Given the description of an element on the screen output the (x, y) to click on. 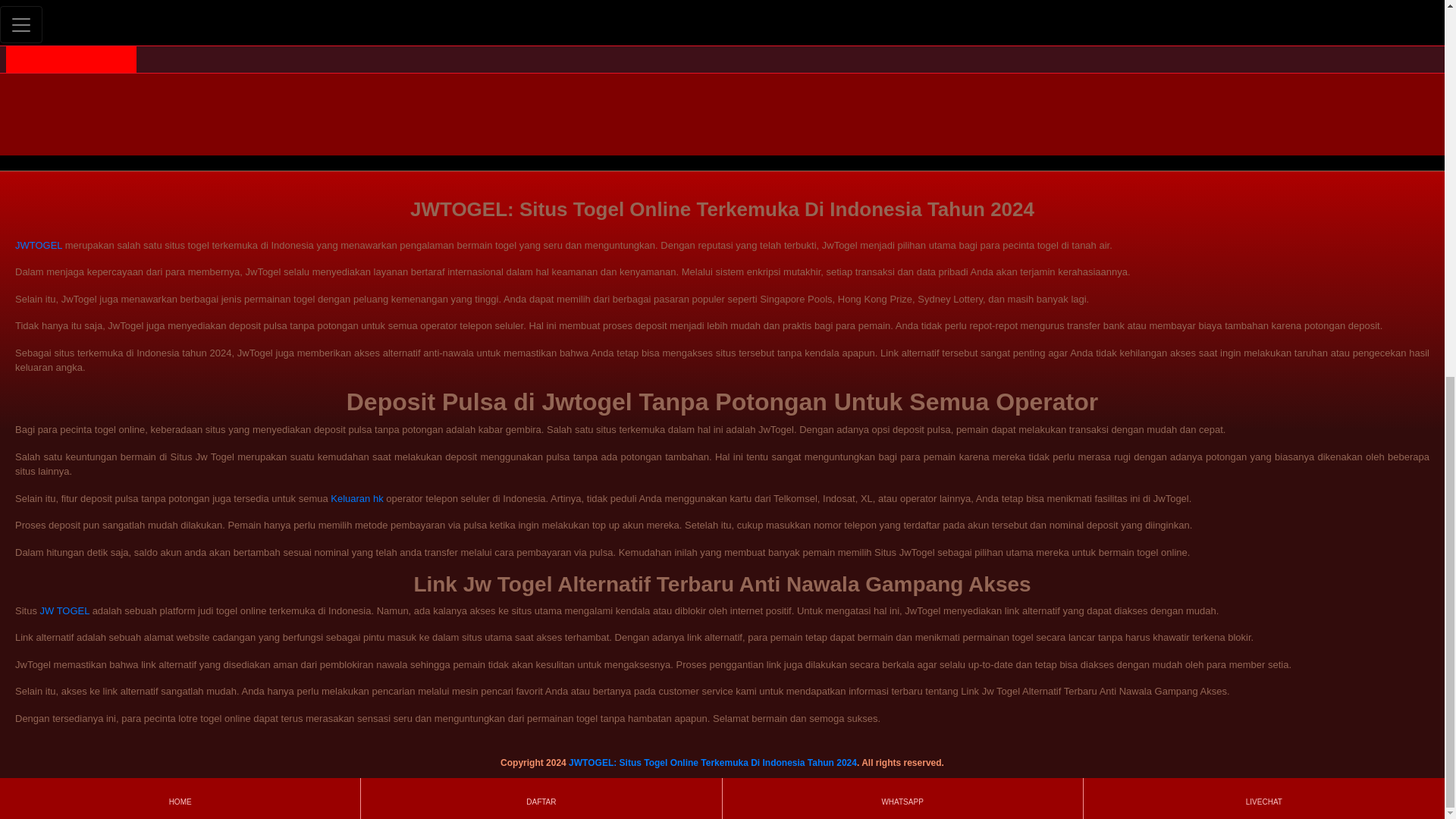
HOME (179, 103)
JW TOGEL (65, 610)
WHATSAPP (901, 103)
JWTOGEL (38, 244)
LIVECHAT (1263, 103)
Keluaran hk (356, 498)
DAFTAR (540, 103)
